Given the description of an element on the screen output the (x, y) to click on. 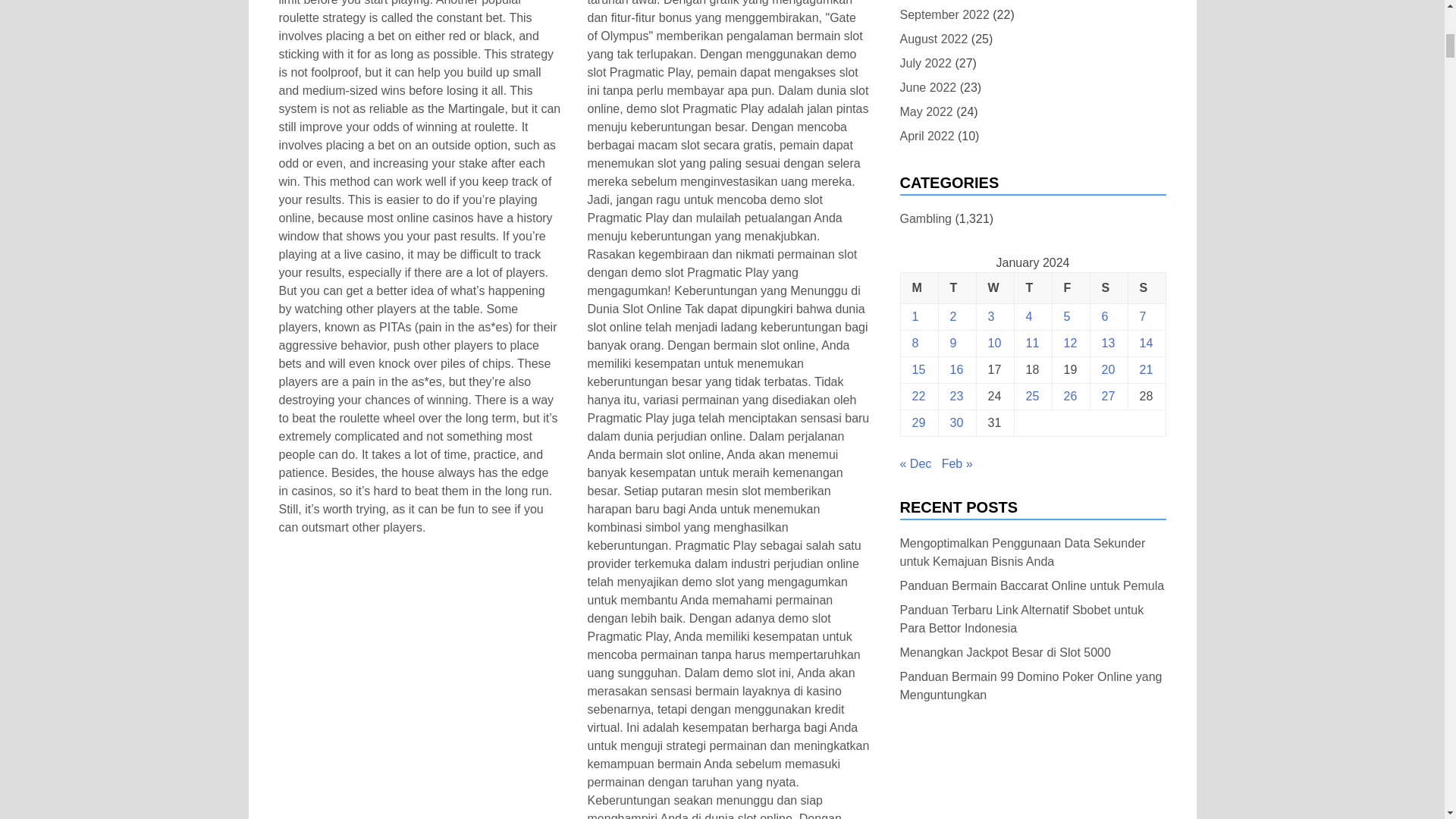
Monday (918, 287)
Saturday (1107, 287)
Friday (1070, 287)
Tuesday (956, 287)
Sunday (1146, 287)
Wednesday (994, 287)
Thursday (1032, 287)
